Given the description of an element on the screen output the (x, y) to click on. 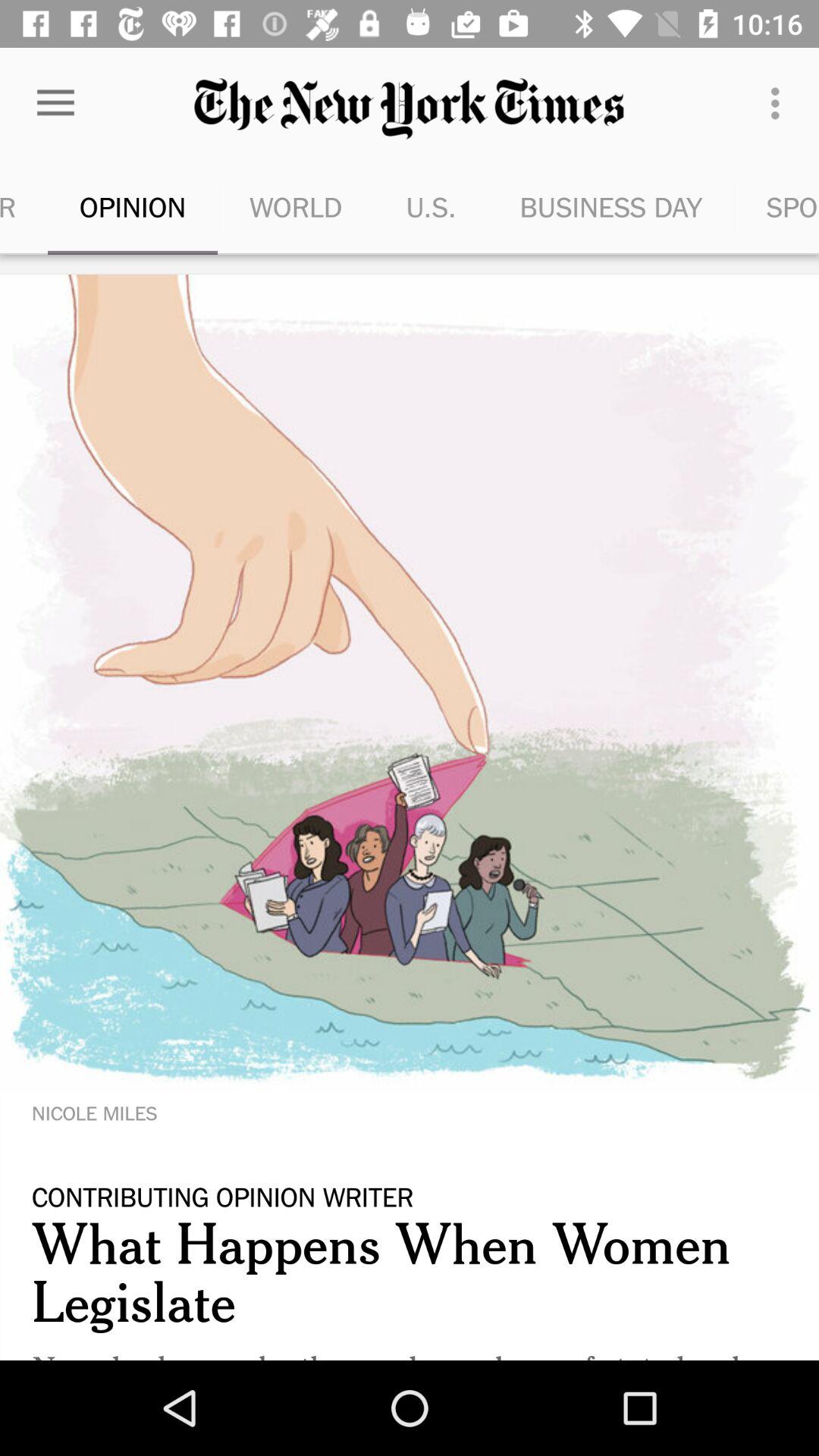
click on us right to world (431, 206)
